Given the description of an element on the screen output the (x, y) to click on. 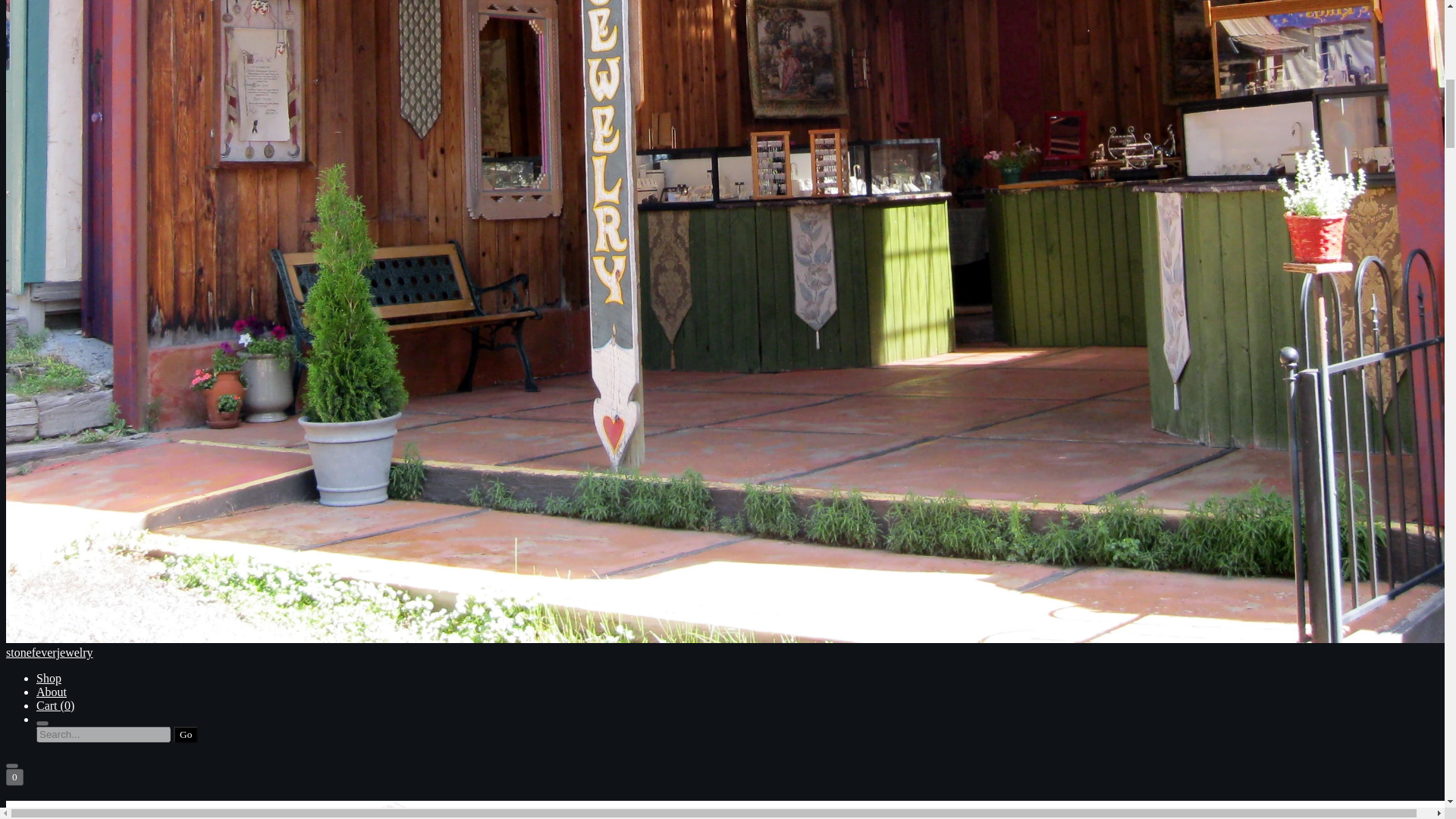
0 (14, 777)
Shop (48, 677)
Go (185, 734)
Go (185, 734)
About (51, 691)
stonefeverjewelry (721, 809)
